Given the description of an element on the screen output the (x, y) to click on. 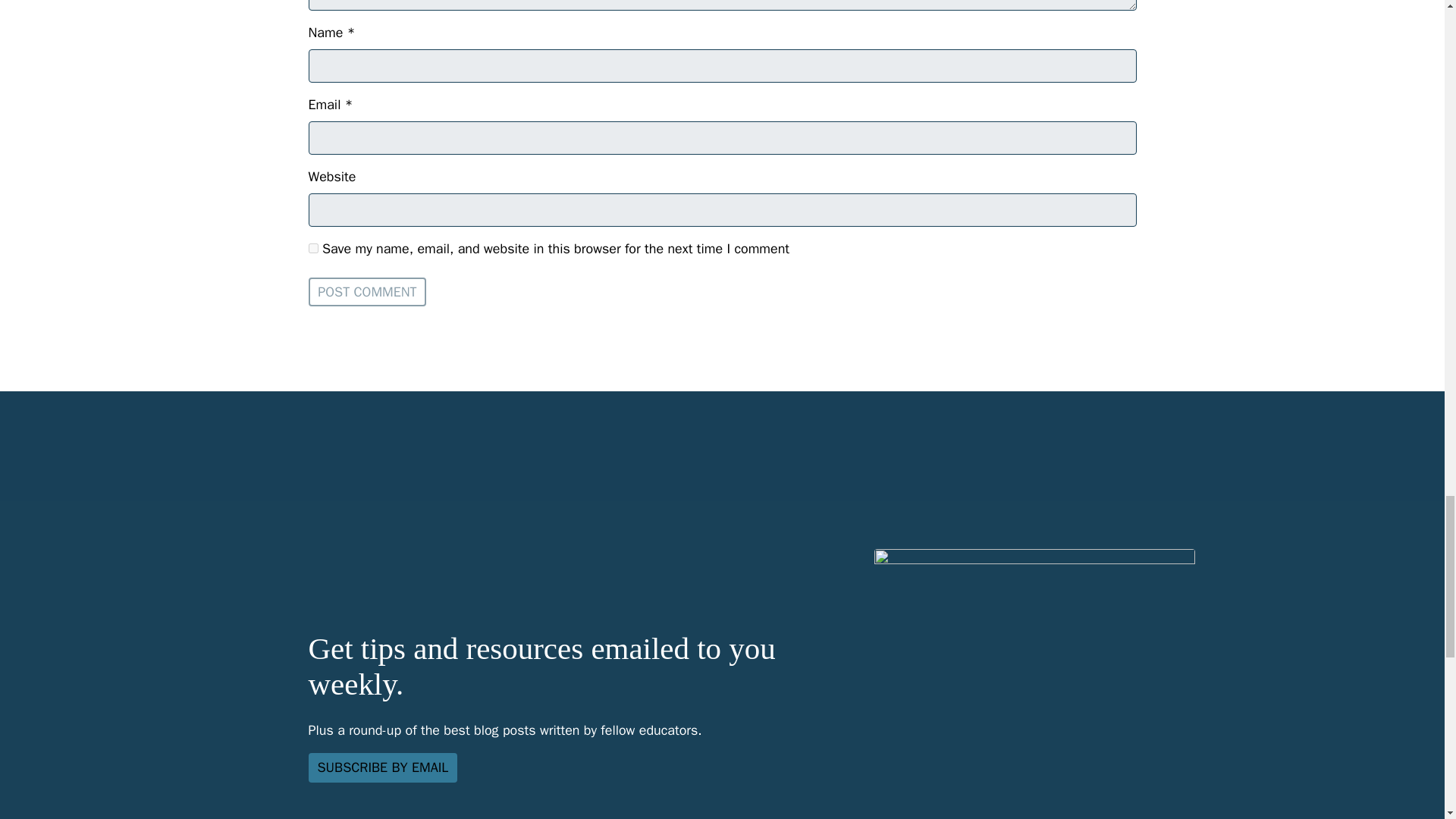
Post Comment (366, 291)
SUBSCRIBE BY EMAIL (382, 767)
Post Comment (366, 291)
yes (312, 248)
